Given the description of an element on the screen output the (x, y) to click on. 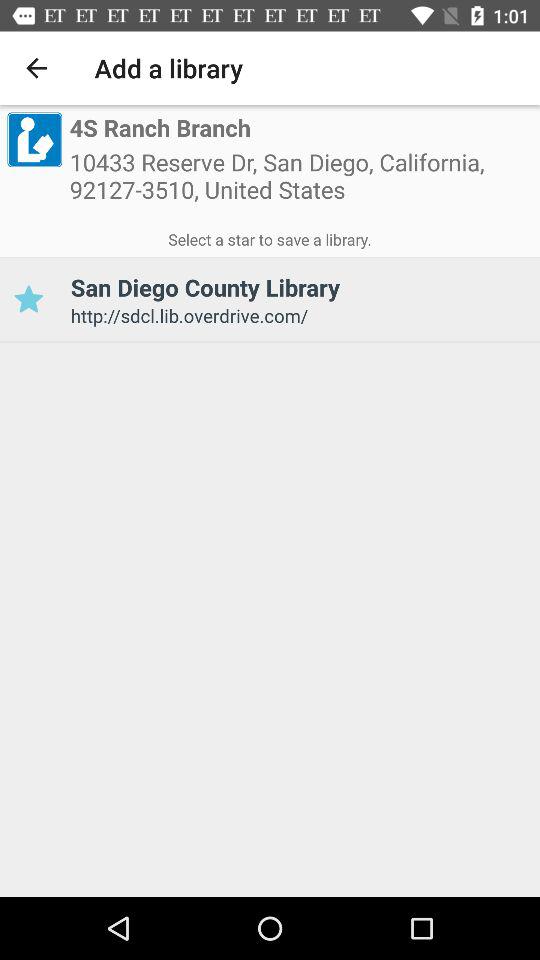
save a library (28, 299)
